Given the description of an element on the screen output the (x, y) to click on. 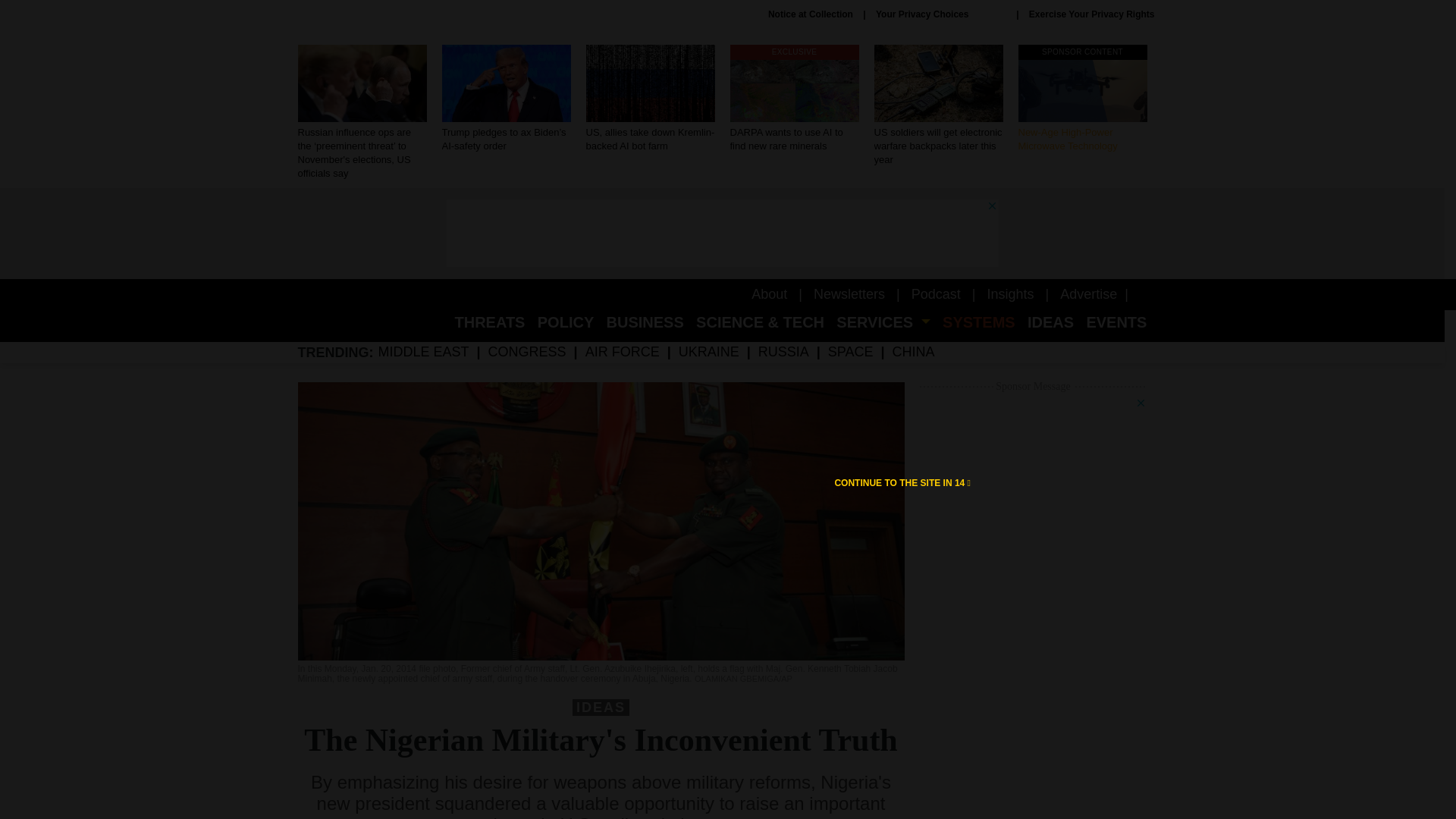
Exercise Your Privacy Rights (1091, 14)
Advertise (1087, 294)
3rd party ad content (721, 233)
US, allies take down Kremlin-backed AI bot farm (649, 99)
Insights (1010, 294)
Your Privacy Choices (1082, 99)
Podcast (941, 14)
CONTINUE TO THE SITE IN 14 (935, 294)
Notice at Collection (902, 482)
Newsletters (794, 99)
3rd party ad content (810, 14)
About (849, 294)
